Given the description of an element on the screen output the (x, y) to click on. 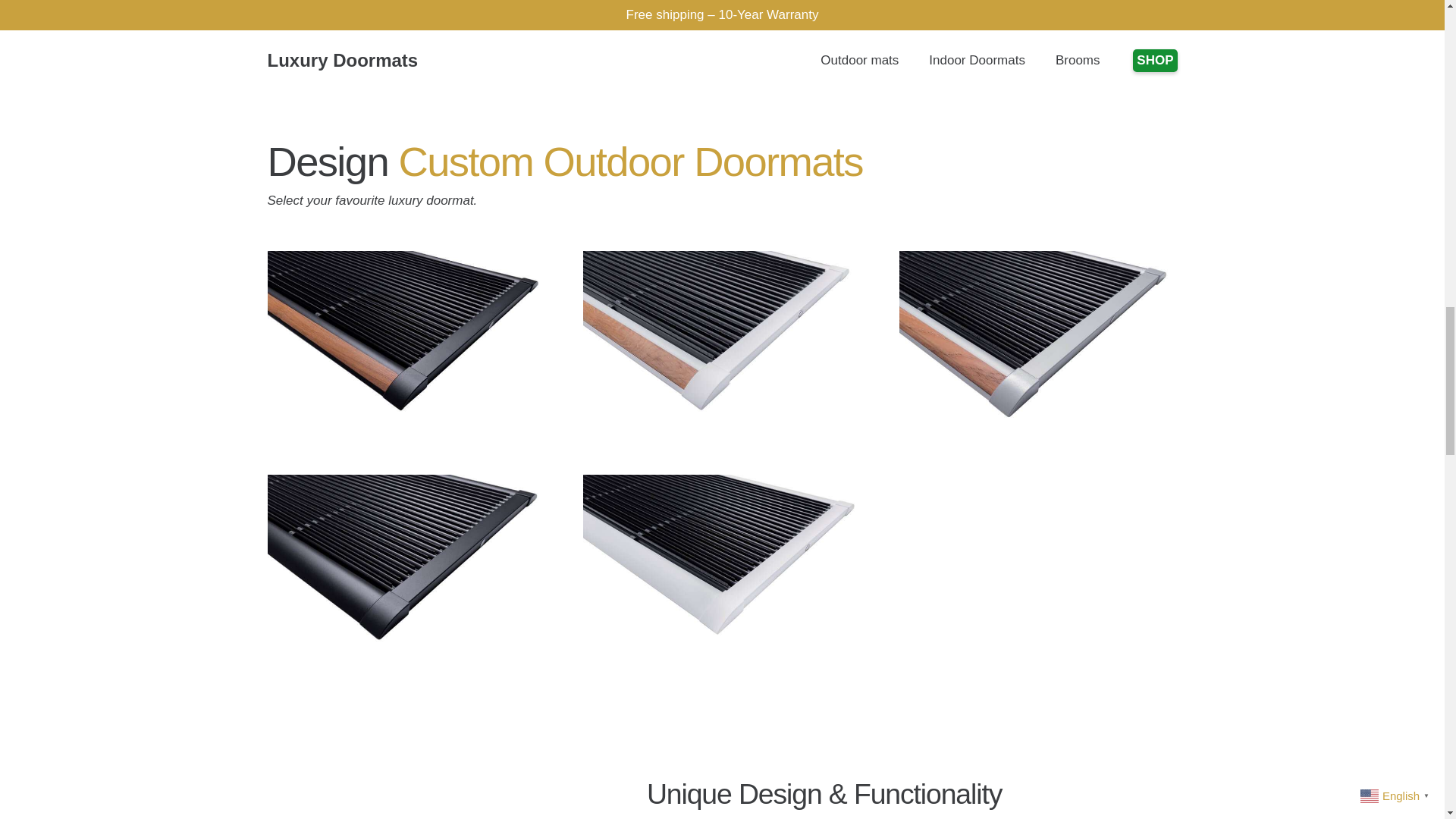
Doormat silver (1037, 486)
Custom Outdoor Doormats (630, 161)
Doormat silver (1037, 342)
Luxury doormat  (405, 342)
